Given the description of an element on the screen output the (x, y) to click on. 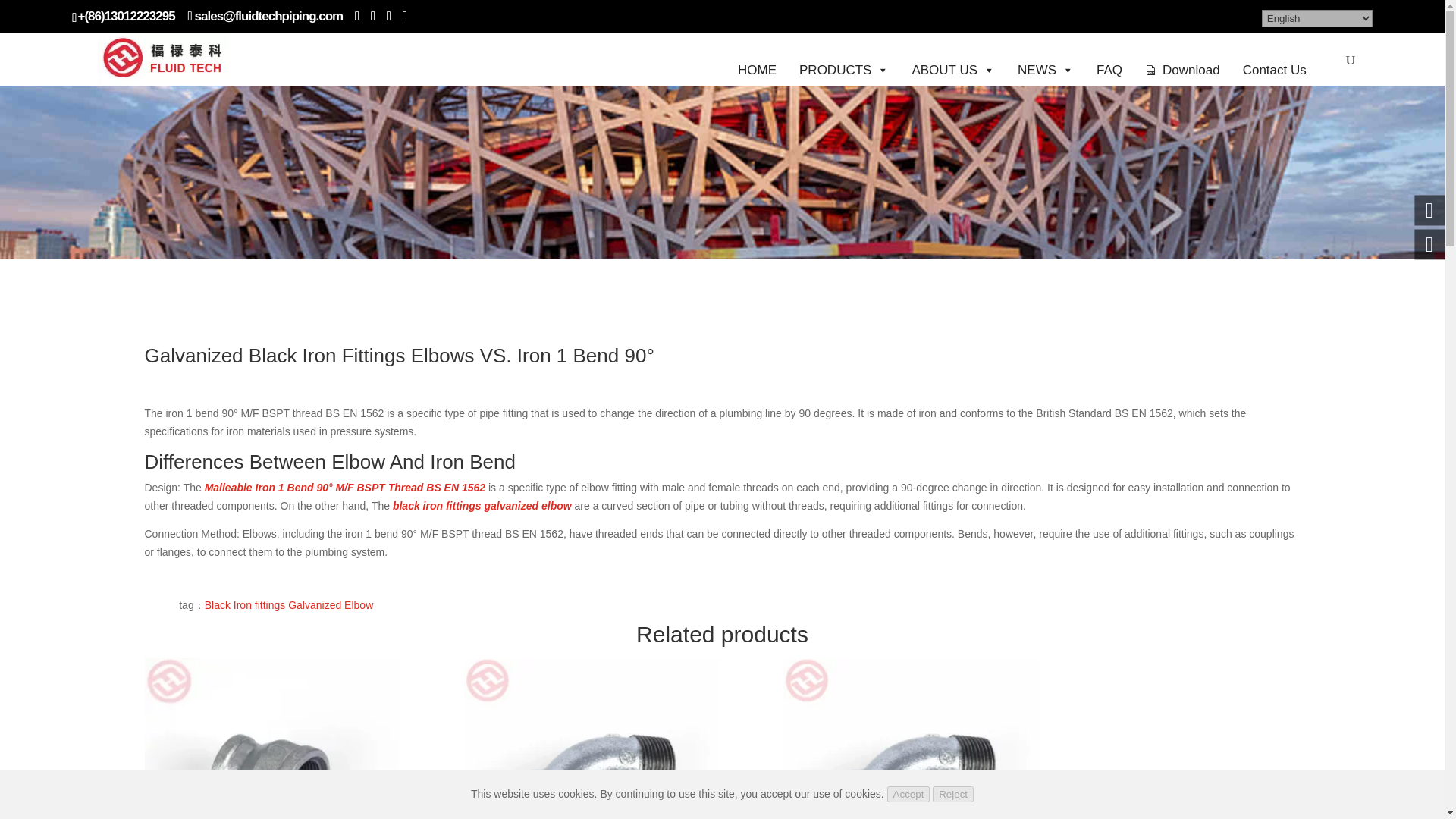
PRODUCTS (843, 58)
HOME (756, 58)
